Given the description of an element on the screen output the (x, y) to click on. 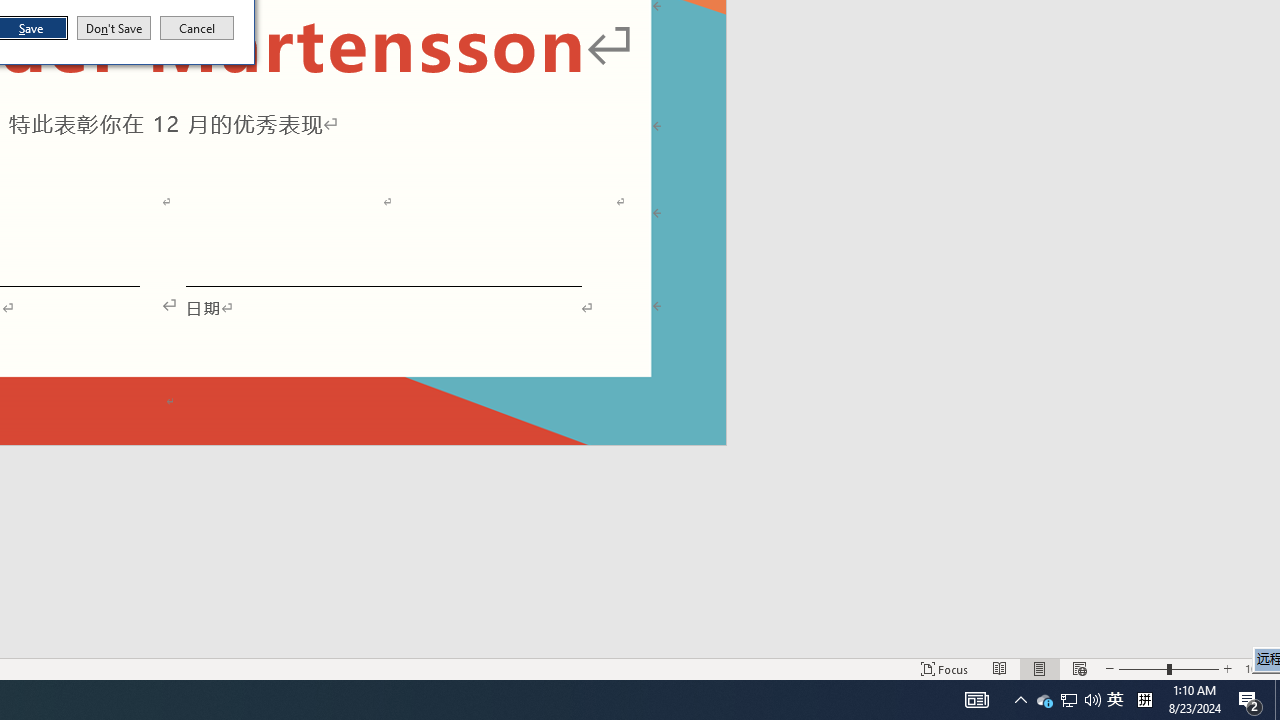
Cancel (197, 27)
Zoom 100% (1258, 668)
